Given the description of an element on the screen output the (x, y) to click on. 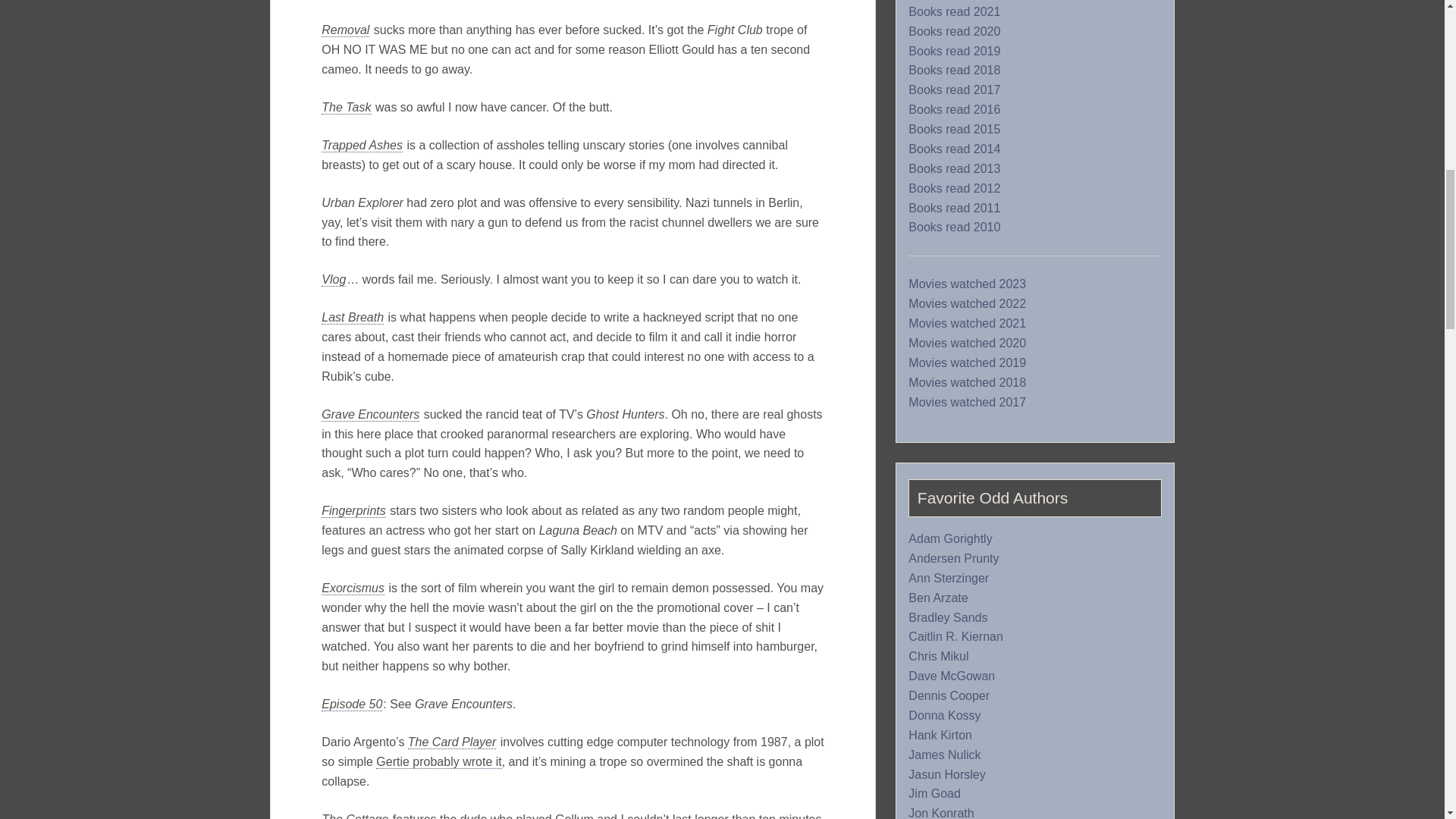
Fingerprints (353, 510)
Exorcismus (352, 588)
Episode 50 (351, 704)
Grave Encounters (370, 414)
The Task (346, 107)
Last Breath (352, 317)
The Cottage (354, 816)
Removal (345, 29)
Gertie probably wrote it (437, 762)
Trapped Ashes (362, 145)
Vlog (333, 279)
The Card Player (451, 742)
